Given the description of an element on the screen output the (x, y) to click on. 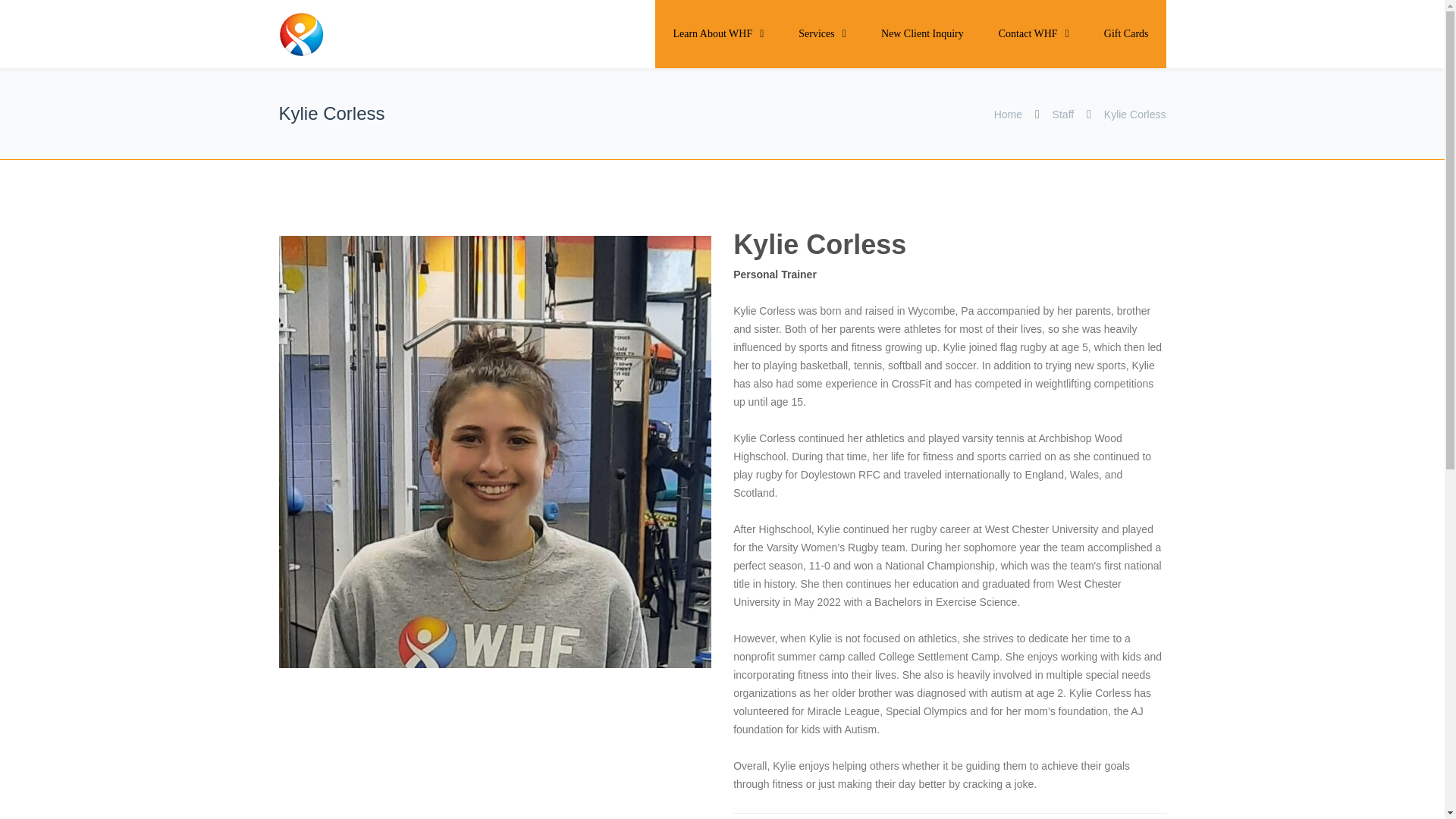
Home (1009, 114)
Gift Cards (1126, 33)
Services (821, 33)
Learn About WHF (717, 33)
Contact WHF (1033, 33)
Wrightstown Health and Fitness (345, 34)
Staff (1063, 114)
New Client Inquiry (922, 33)
